Given the description of an element on the screen output the (x, y) to click on. 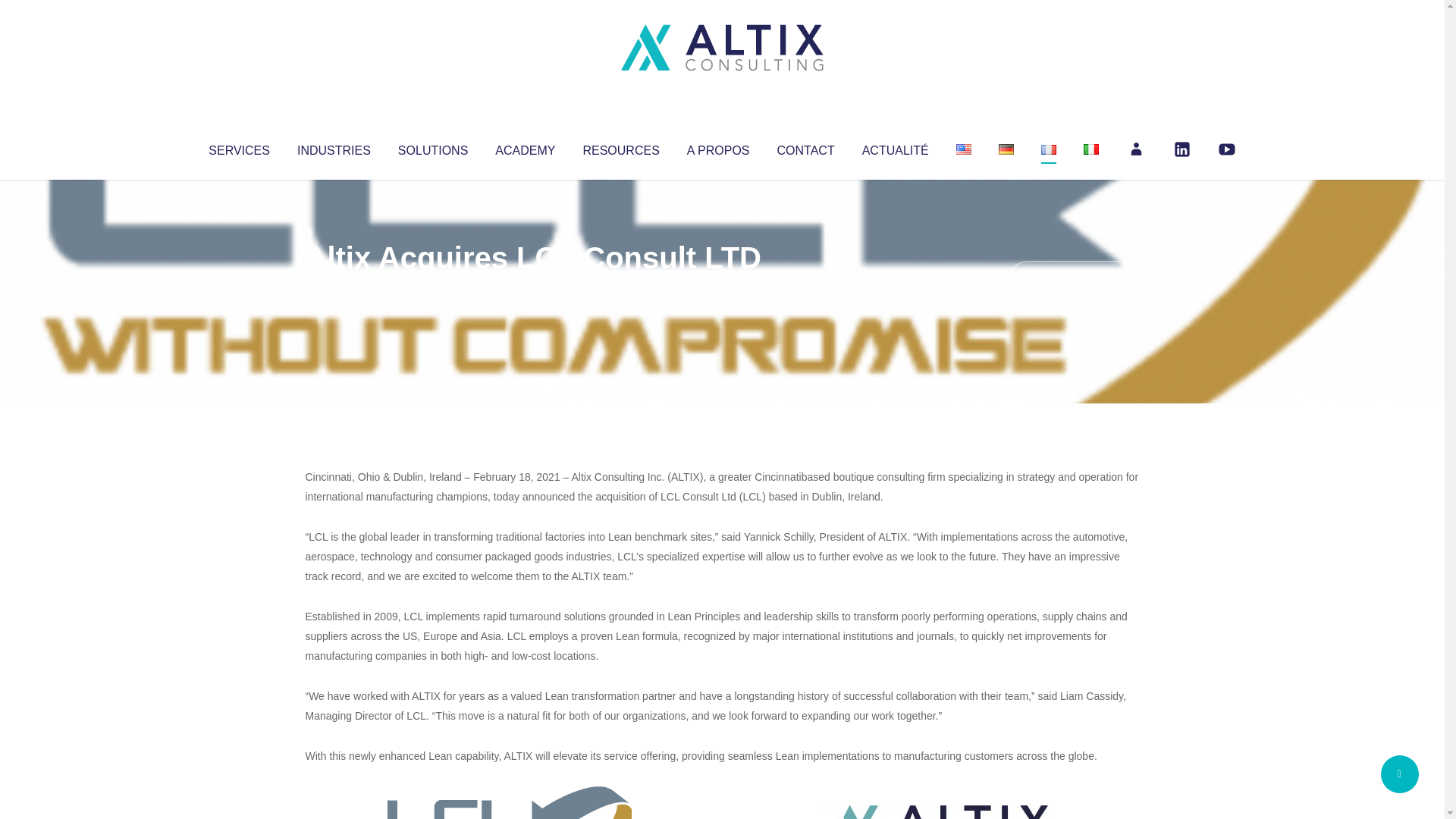
SOLUTIONS (432, 146)
A PROPOS (718, 146)
RESOURCES (620, 146)
INDUSTRIES (334, 146)
No Comments (1073, 278)
ACADEMY (524, 146)
SERVICES (238, 146)
Articles par Altix (333, 287)
Altix (333, 287)
Uncategorized (530, 287)
